Given the description of an element on the screen output the (x, y) to click on. 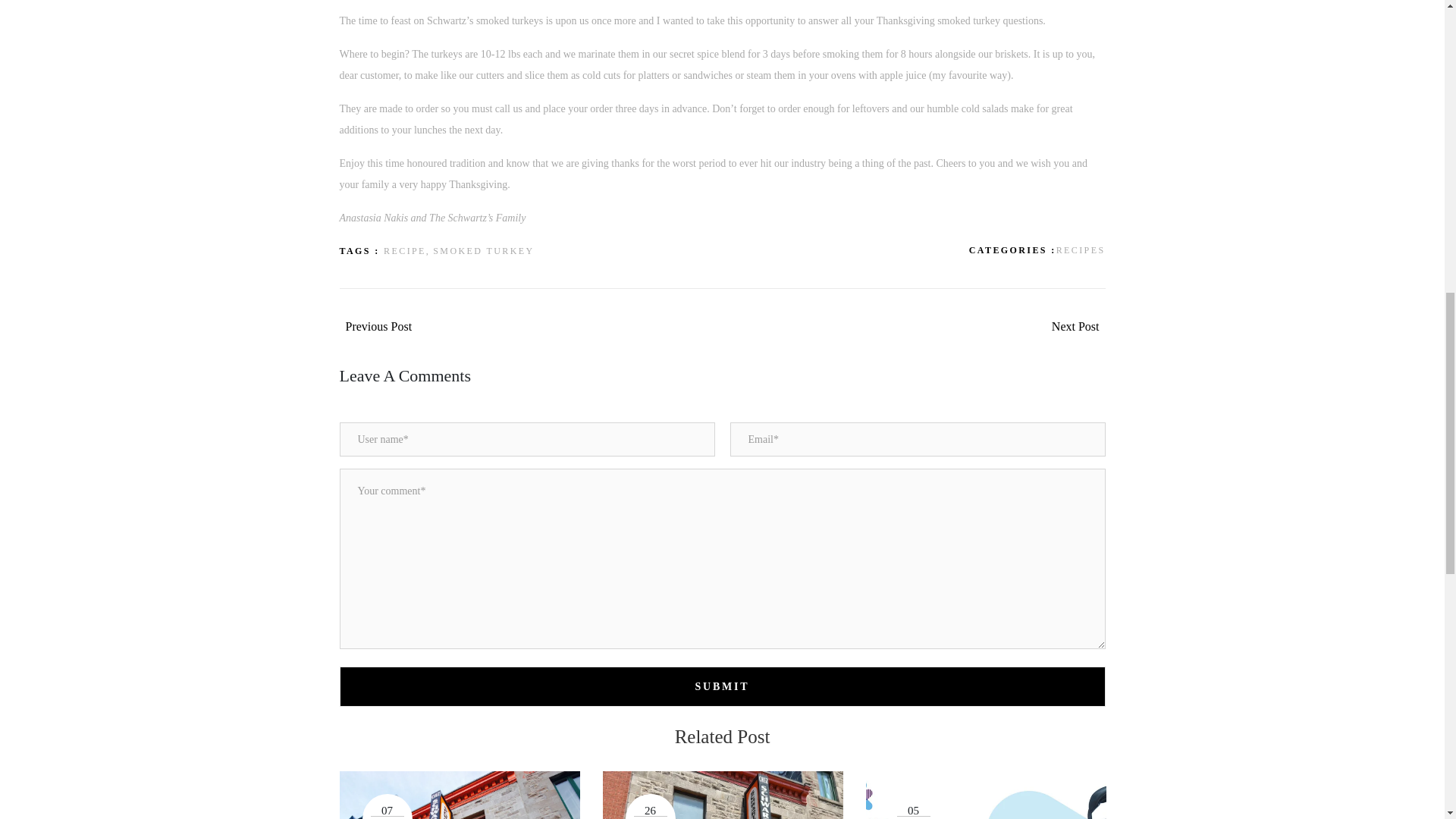
Submit (722, 686)
